Given the description of an element on the screen output the (x, y) to click on. 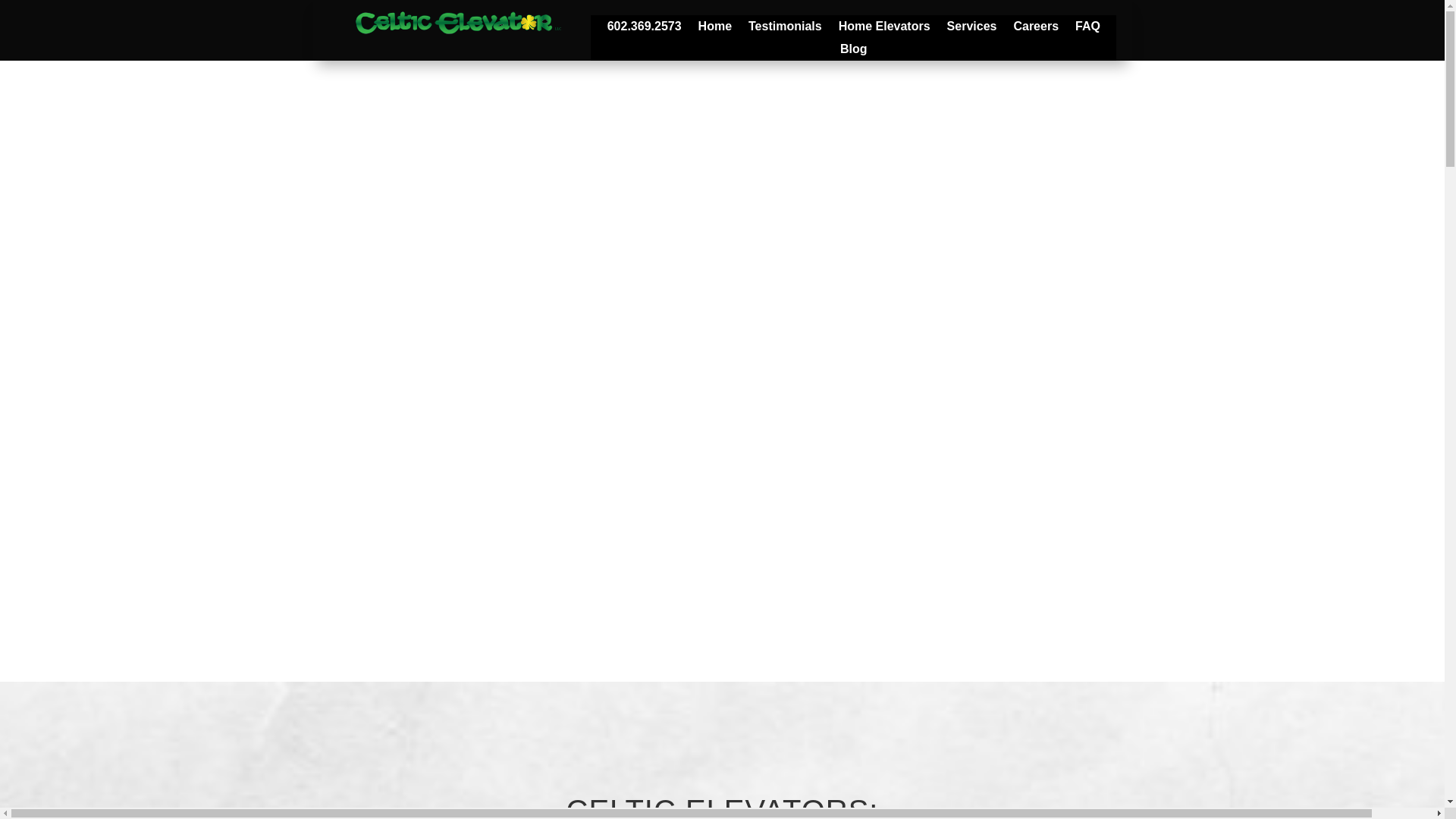
Blog (853, 52)
Home (715, 29)
Services (972, 29)
Testimonials (785, 29)
602.369.2573 (644, 29)
Careers (1035, 29)
Home Elevators (884, 29)
FAQ (1087, 29)
